Given the description of an element on the screen output the (x, y) to click on. 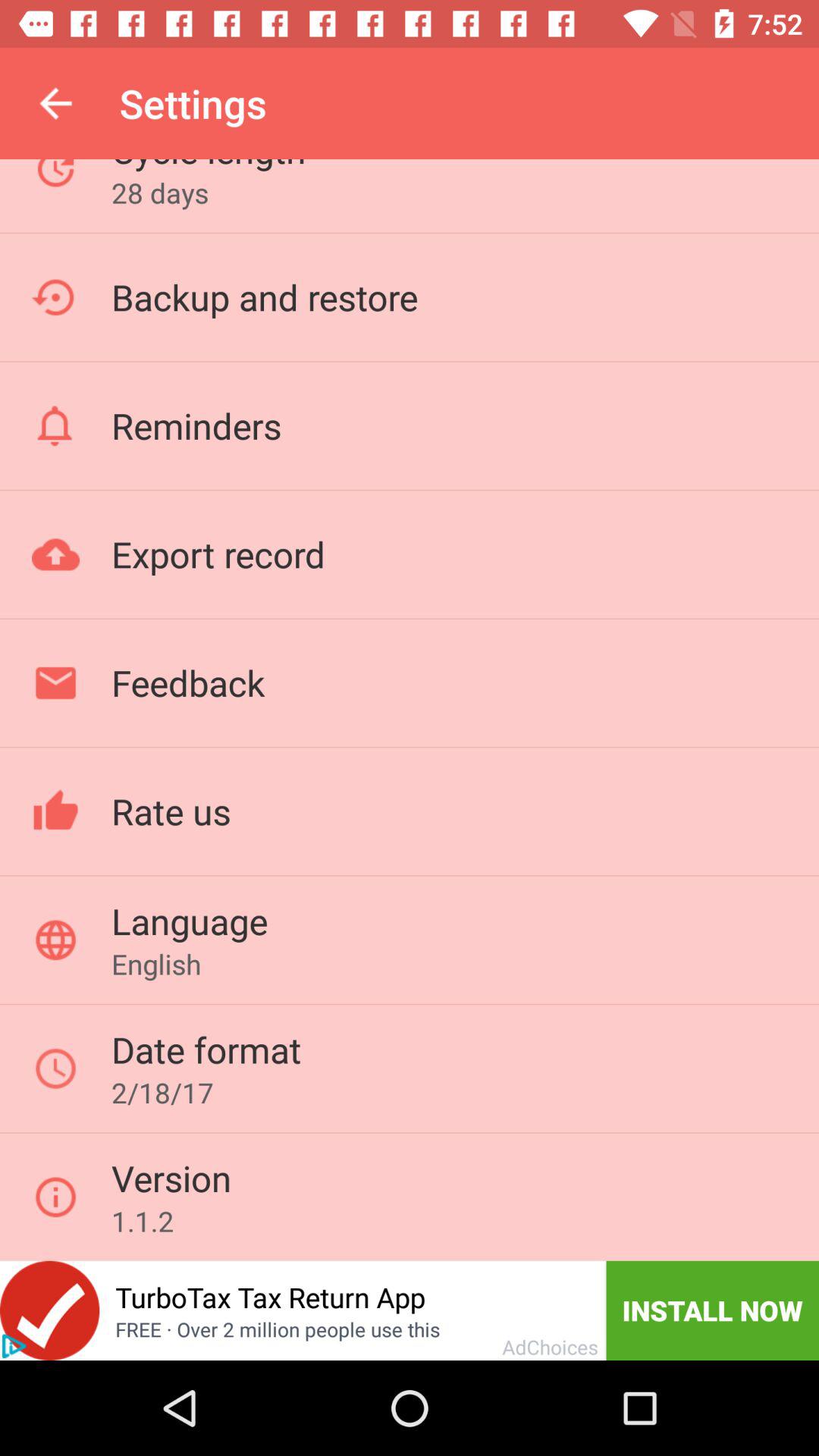
select 28 days (159, 192)
